Given the description of an element on the screen output the (x, y) to click on. 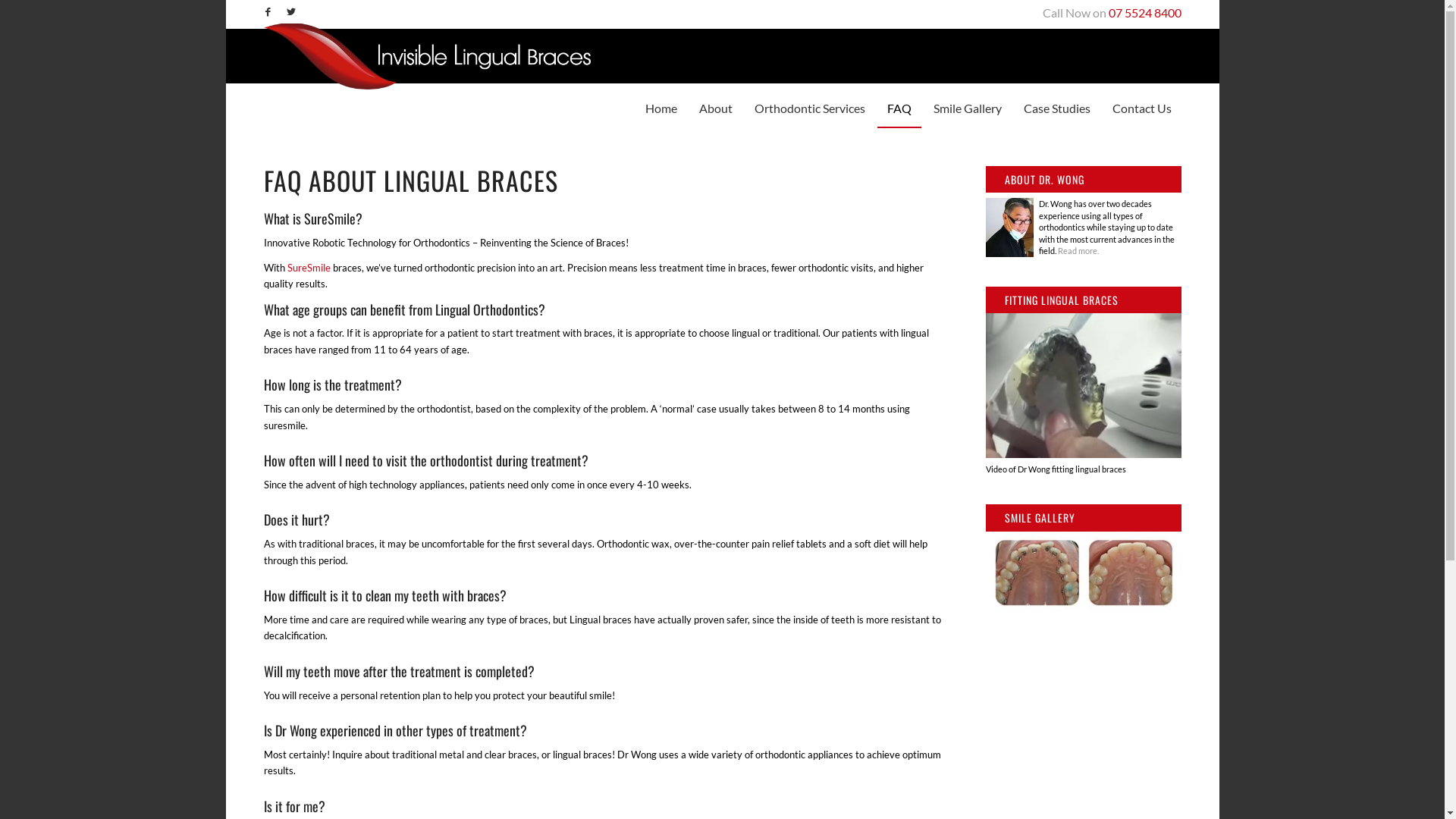
About Element type: text (714, 108)
Orthodontic Services Element type: text (809, 108)
Facebook Element type: hover (267, 11)
07 5524 8400 Element type: text (1144, 12)
Read more. Element type: text (1077, 250)
Smile Gallery Element type: text (967, 108)
Twitter Element type: hover (290, 11)
Home Element type: text (661, 108)
FAQ Element type: text (898, 108)
Case Studies Element type: text (1056, 108)
Contact Us Element type: text (1141, 108)
SureSmile Element type: text (307, 267)
